Given the description of an element on the screen output the (x, y) to click on. 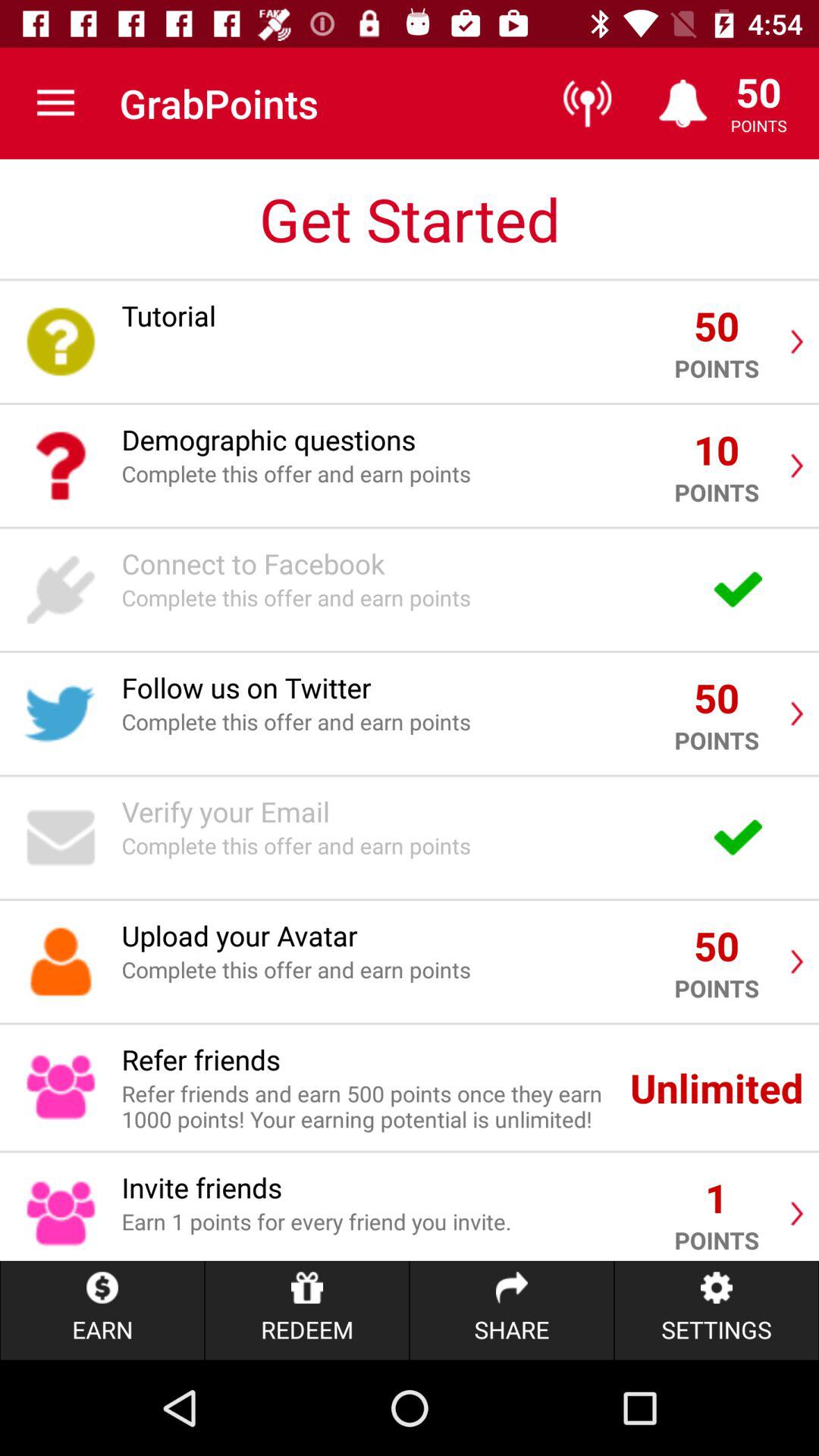
click the item next to grabpoints item (55, 103)
